Given the description of an element on the screen output the (x, y) to click on. 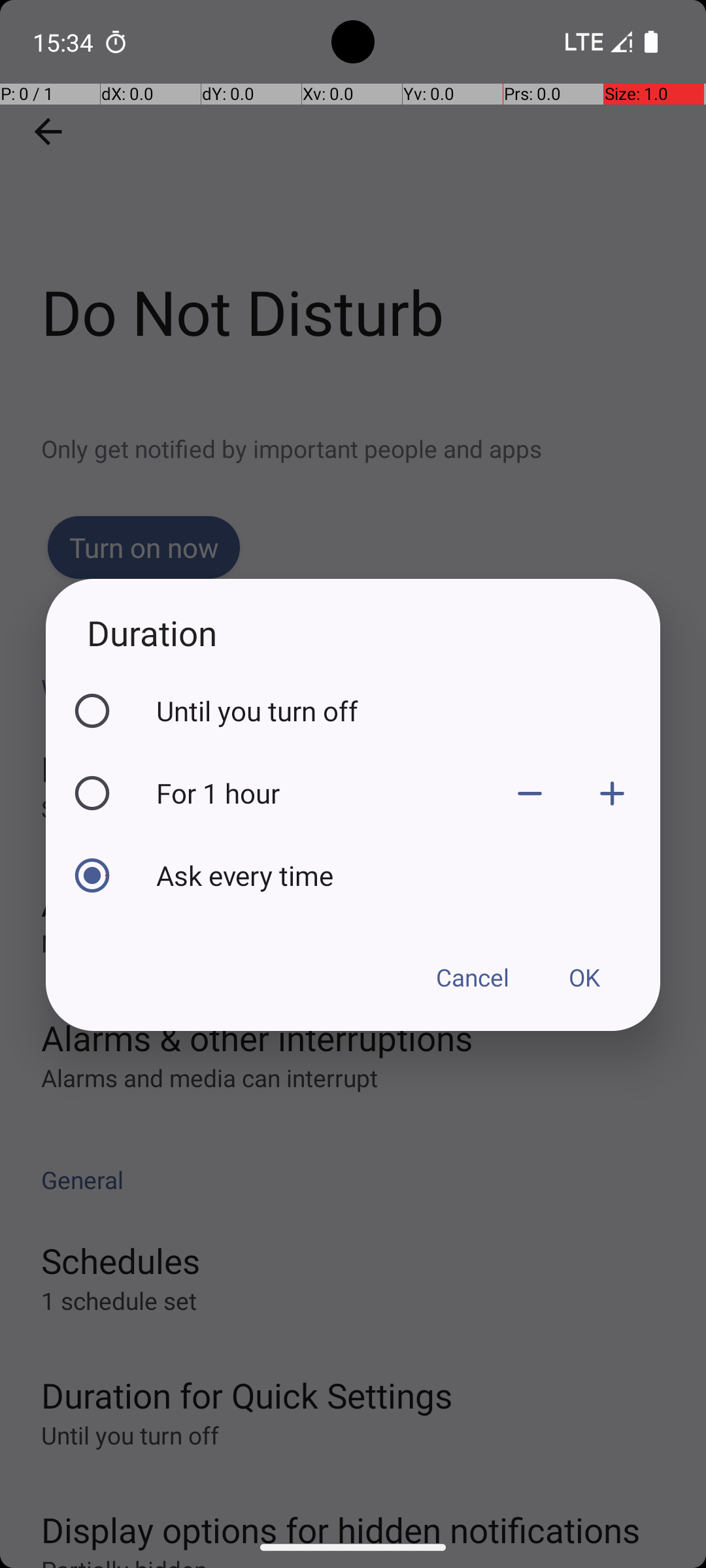
Duration Element type: android.widget.TextView (352, 632)
Less time. Element type: android.widget.ImageView (529, 792)
More time. Element type: android.widget.ImageView (611, 792)
For 1 hour Element type: android.widget.TextView (322, 792)
Ask every time Element type: android.widget.TextView (404, 874)
